Given the description of an element on the screen output the (x, y) to click on. 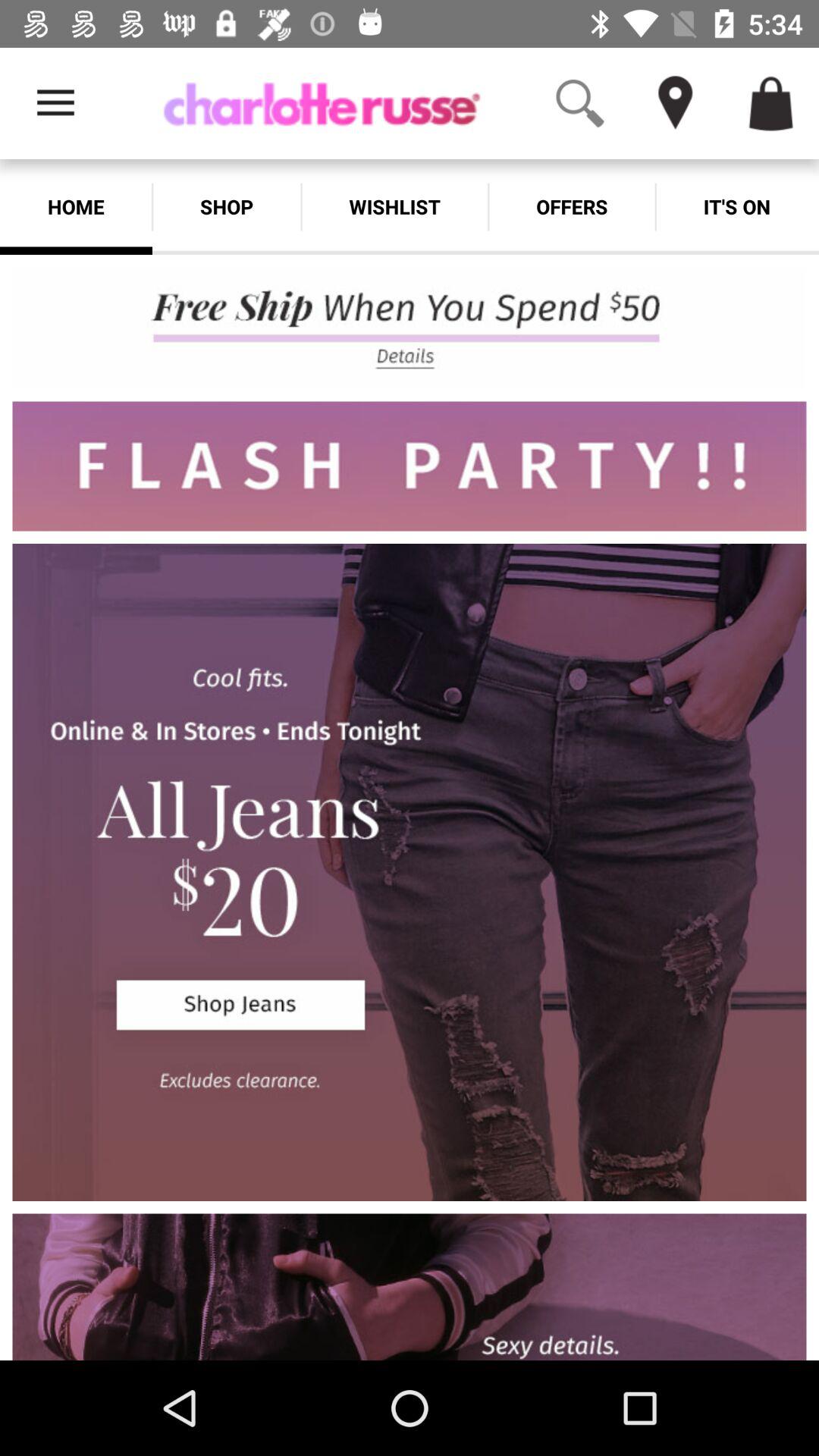
launch icon next to the it's on item (571, 206)
